Given the description of an element on the screen output the (x, y) to click on. 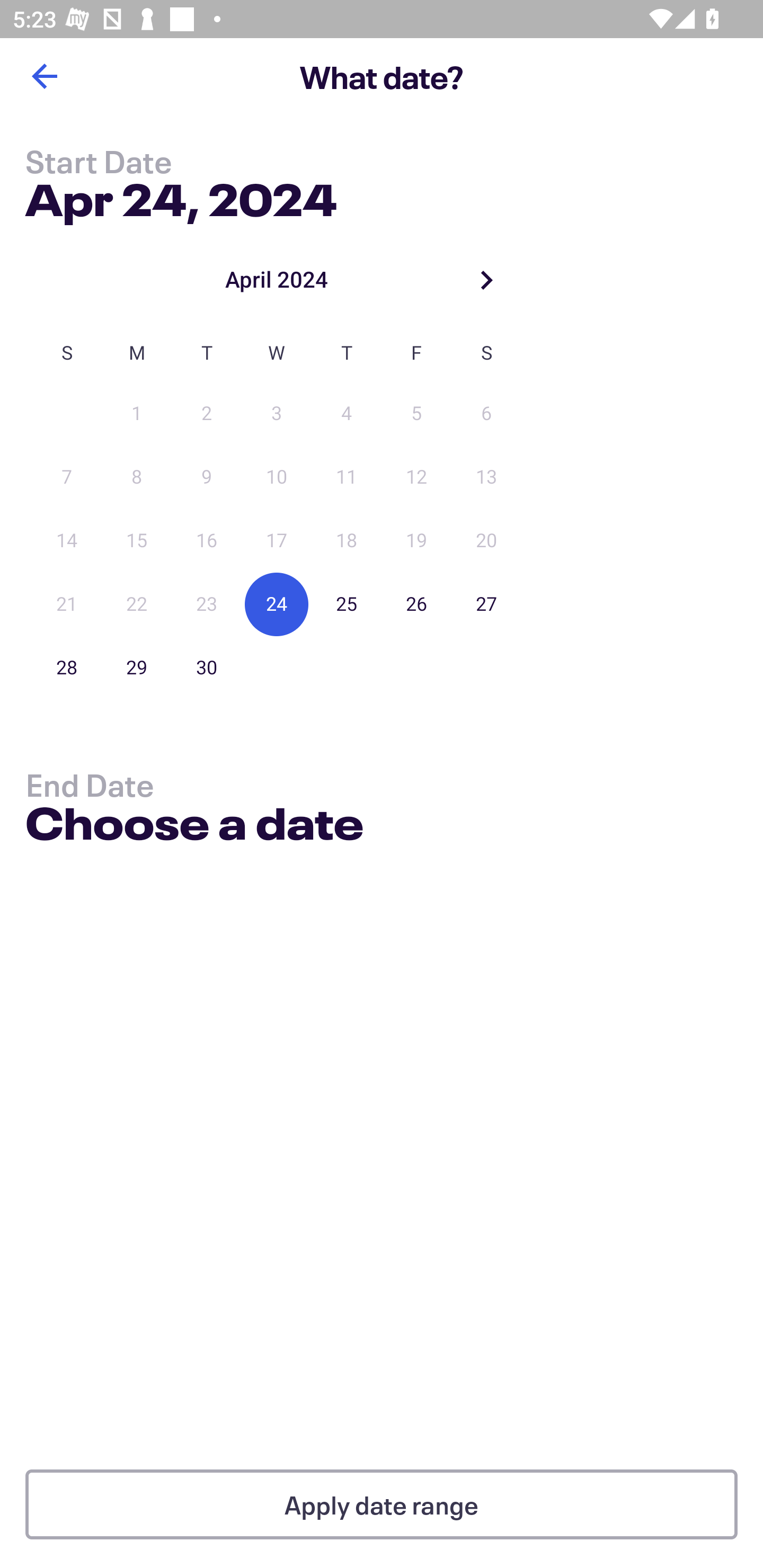
Back button (44, 75)
Apr 24, 2024 (181, 195)
Next month (486, 279)
1 01 April 2024 (136, 413)
2 02 April 2024 (206, 413)
3 03 April 2024 (276, 413)
4 04 April 2024 (346, 413)
5 05 April 2024 (416, 413)
6 06 April 2024 (486, 413)
7 07 April 2024 (66, 477)
8 08 April 2024 (136, 477)
9 09 April 2024 (206, 477)
10 10 April 2024 (276, 477)
11 11 April 2024 (346, 477)
12 12 April 2024 (416, 477)
13 13 April 2024 (486, 477)
14 14 April 2024 (66, 540)
15 15 April 2024 (136, 540)
16 16 April 2024 (206, 540)
17 17 April 2024 (276, 540)
18 18 April 2024 (346, 540)
19 19 April 2024 (416, 540)
20 20 April 2024 (486, 540)
21 21 April 2024 (66, 604)
22 22 April 2024 (136, 604)
23 23 April 2024 (206, 604)
24 24 April 2024 (276, 604)
25 25 April 2024 (346, 604)
26 26 April 2024 (416, 604)
27 27 April 2024 (486, 604)
28 28 April 2024 (66, 667)
29 29 April 2024 (136, 667)
30 30 April 2024 (206, 667)
Choose a date (194, 826)
Apply date range (381, 1504)
